Given the description of an element on the screen output the (x, y) to click on. 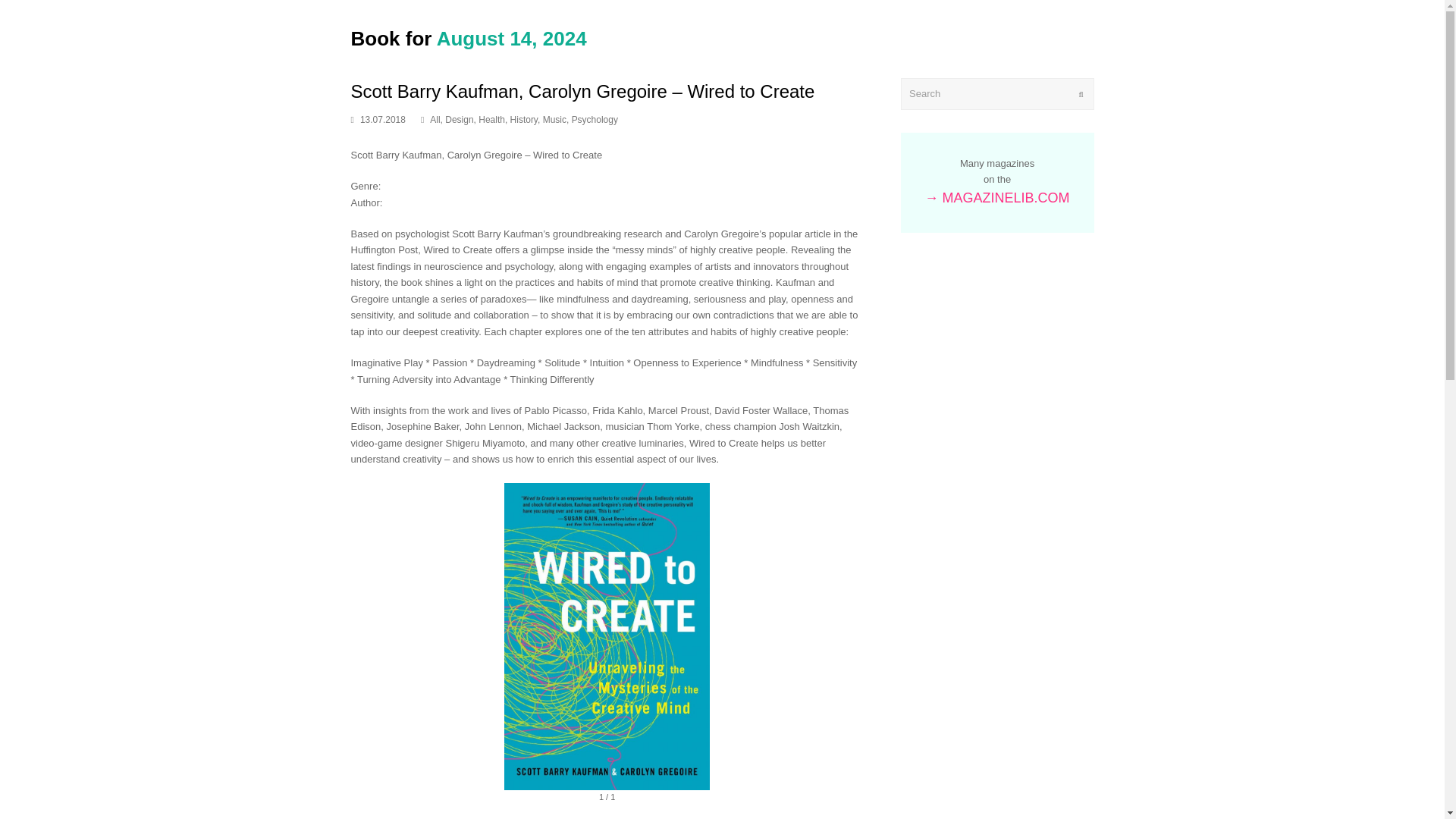
New books every day - PDF, FB2 download (468, 38)
Design (459, 119)
Book for August 14, 2024 (468, 38)
Music (554, 119)
All (434, 119)
Psychology (594, 119)
History (524, 119)
Health (492, 119)
